Given the description of an element on the screen output the (x, y) to click on. 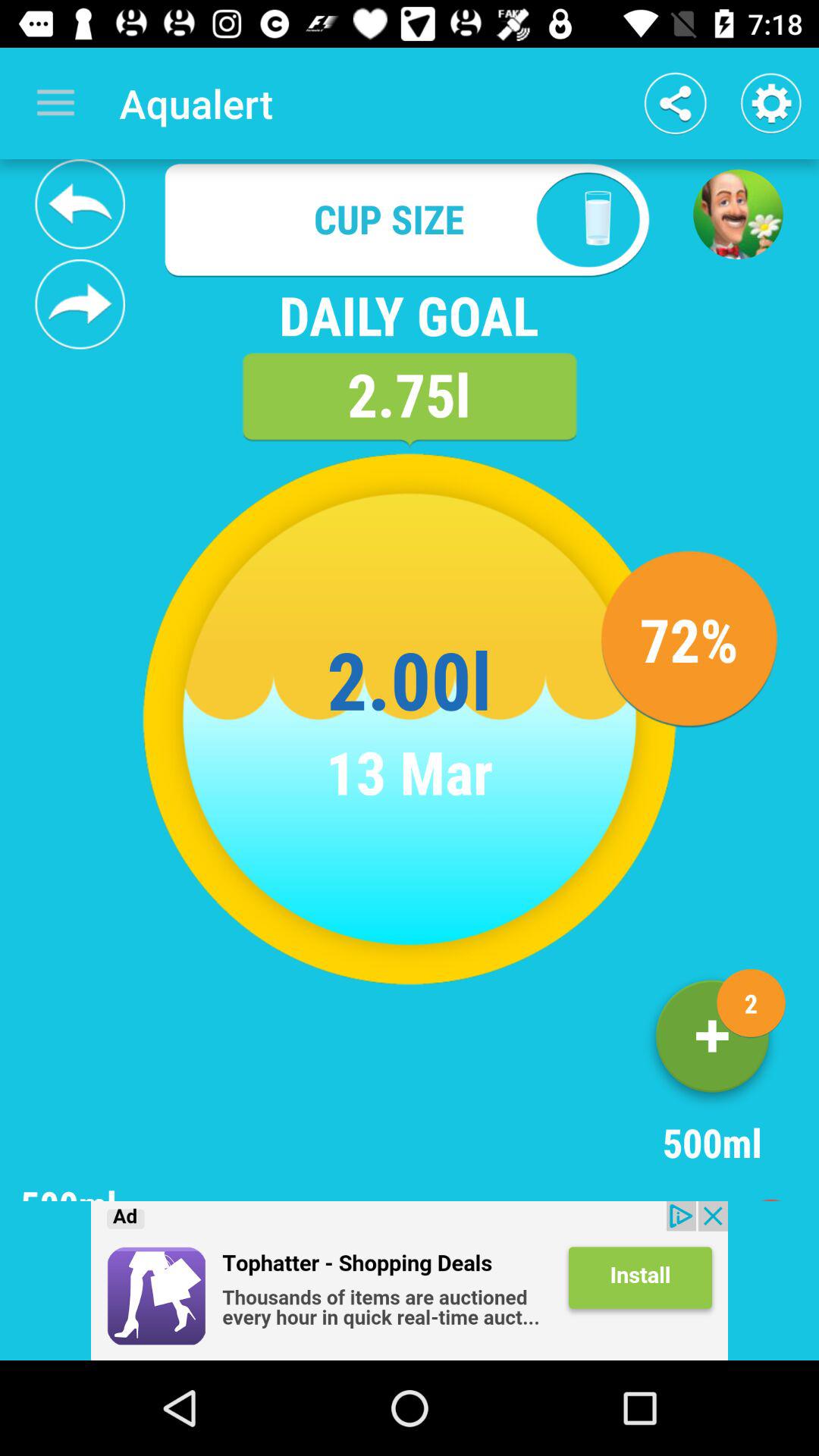
advertisement page (738, 214)
